Given the description of an element on the screen output the (x, y) to click on. 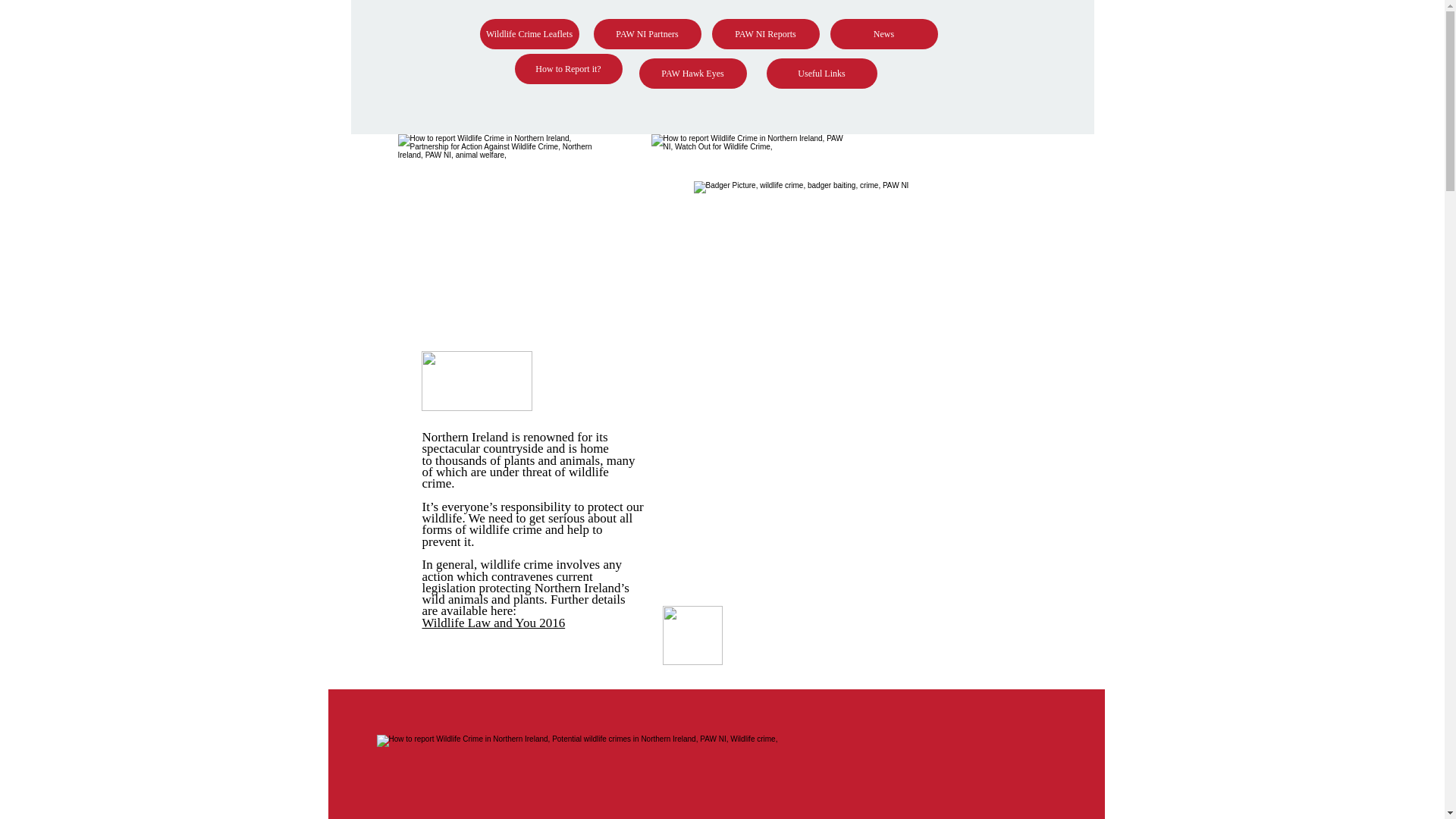
News (883, 33)
Useful Links (820, 73)
Wildlife Law and You 2016 (493, 622)
Wildlife Crime Leaflets (528, 33)
Wildlife Crime Logo.png (749, 222)
Be Aware.png (477, 381)
PAW NI Partners (646, 33)
How to Report it? (567, 69)
Partnership Logo.png (499, 210)
PAW Hawk Eyes (692, 73)
PAW NI Reports (764, 33)
